Given the description of an element on the screen output the (x, y) to click on. 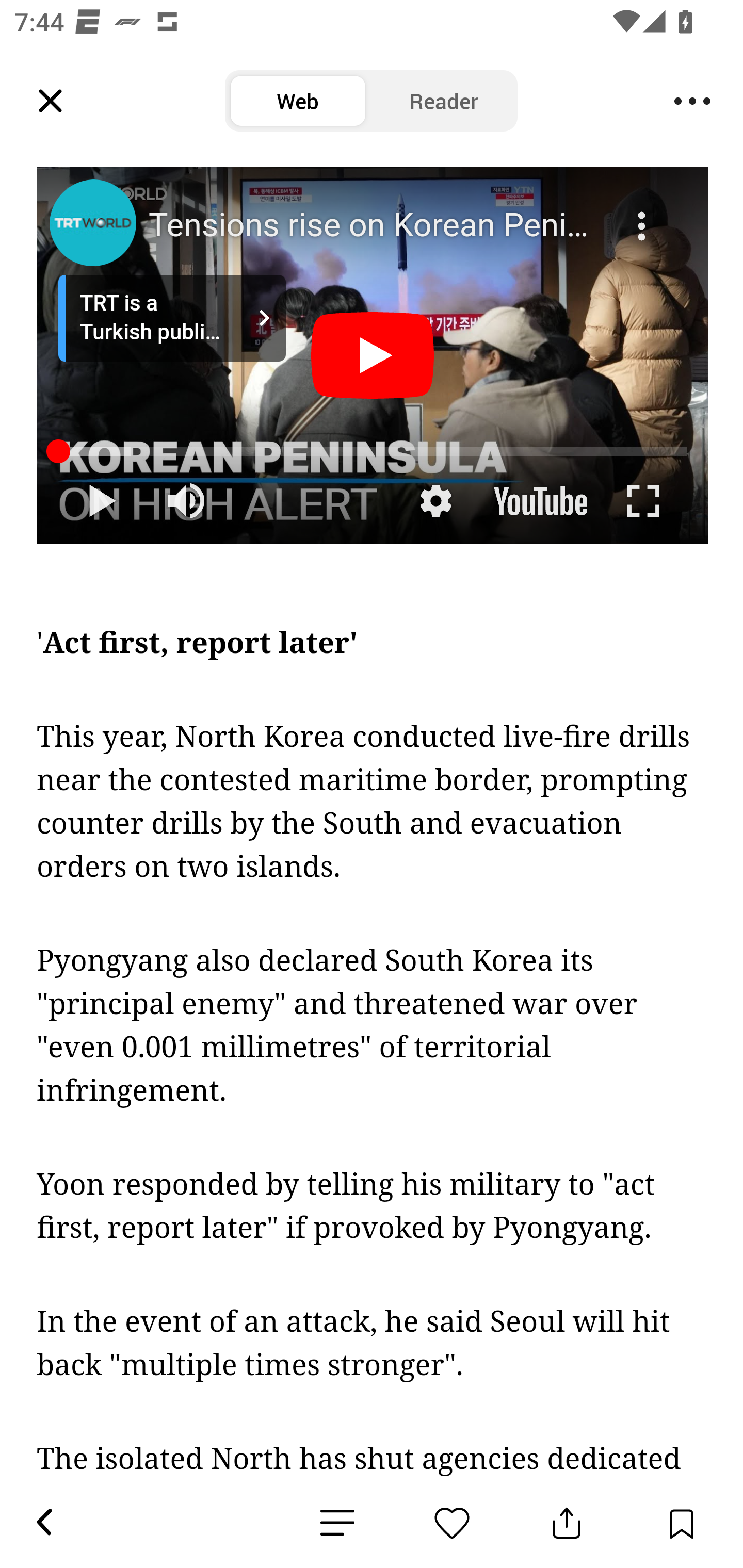
Leading Icon (50, 101)
Reader (443, 101)
Menu (692, 101)
More (644, 213)
Photo image of TRT World (92, 223)
Tensions rise on Korean Peninsula (374, 226)
TRT is a Turkish public broadcast service. (171, 318)
Play (373, 357)
Play (100, 501)
Mute (187, 501)
Settings (435, 501)
Watch on YouTube (538, 501)
Full screen (644, 501)
Back Button (43, 1523)
News Detail Emotion (451, 1523)
Share Button (566, 1523)
Save Button (680, 1523)
News Detail Emotion (337, 1523)
